Given the description of an element on the screen output the (x, y) to click on. 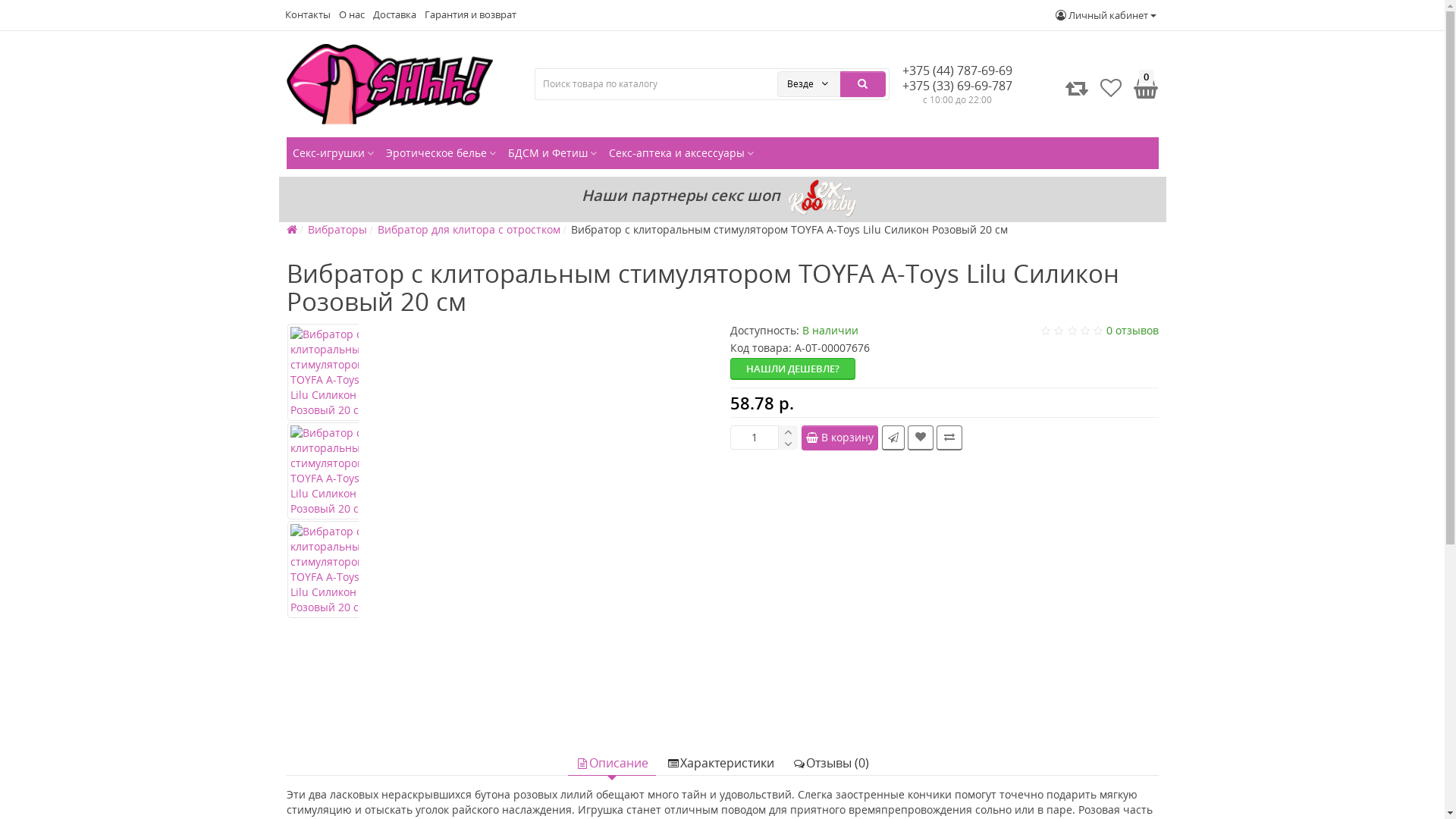
0 Element type: text (1142, 87)
+375 (44) 787-69-69 Element type: text (957, 70)
+375 (33) 69-69-787 Element type: text (957, 85)
